Given the description of an element on the screen output the (x, y) to click on. 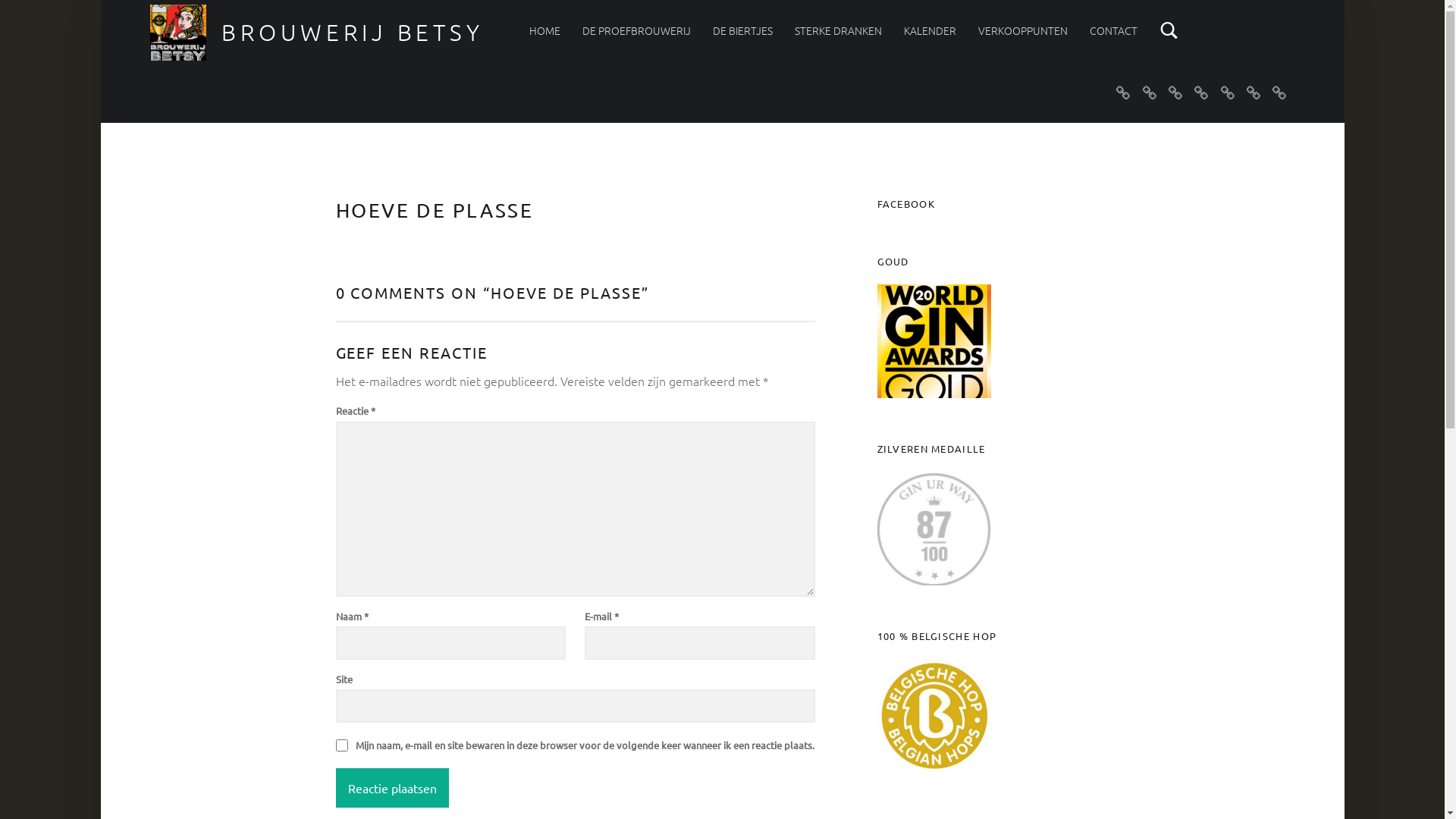
BROUWERIJ BETSY Element type: text (352, 32)
DE BIERTJES Element type: text (742, 30)
Search Element type: text (1169, 30)
Goud Element type: hover (933, 341)
Contact Element type: text (1279, 91)
Verkooppunten Element type: text (1252, 91)
KALENDER Element type: text (929, 30)
VERKOOPPUNTEN Element type: text (1022, 30)
Sterke Dranken Element type: text (1200, 91)
Reactie plaatsen Element type: text (391, 787)
De Biertjes Element type: text (1174, 91)
DE PROEFBROUWERIJ Element type: text (636, 30)
Home Element type: text (1122, 91)
STERKE DRANKEN Element type: text (837, 30)
De Proefbrouwerij Element type: text (1149, 91)
Kalender Element type: text (1227, 91)
HOME Element type: text (544, 30)
CONTACT Element type: text (1113, 30)
